Given the description of an element on the screen output the (x, y) to click on. 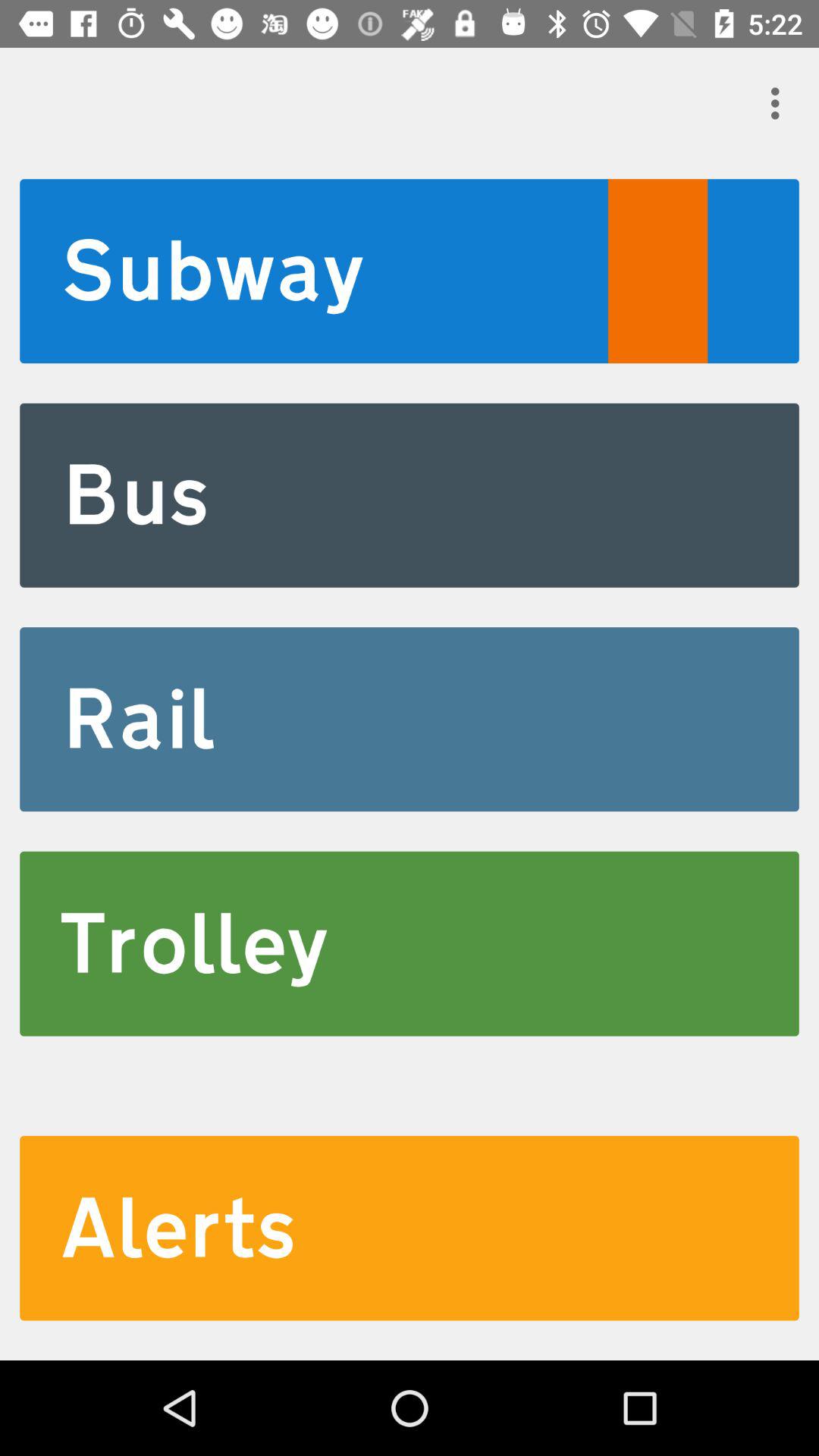
launch bus item (409, 495)
